Given the description of an element on the screen output the (x, y) to click on. 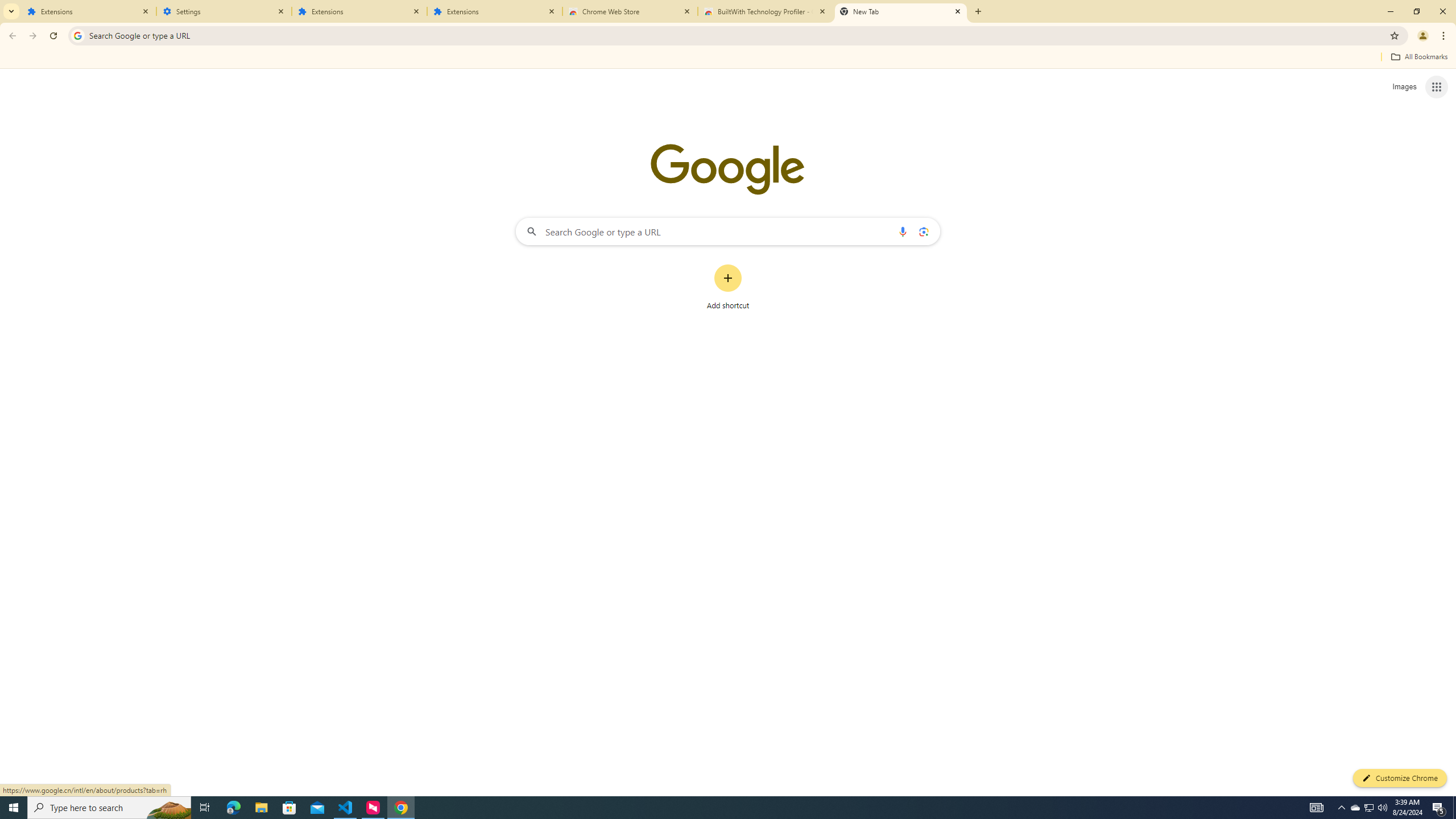
Extensions (494, 11)
BuiltWith Technology Profiler - Chrome Web Store (765, 11)
Search Google or type a URL (727, 230)
